Given the description of an element on the screen output the (x, y) to click on. 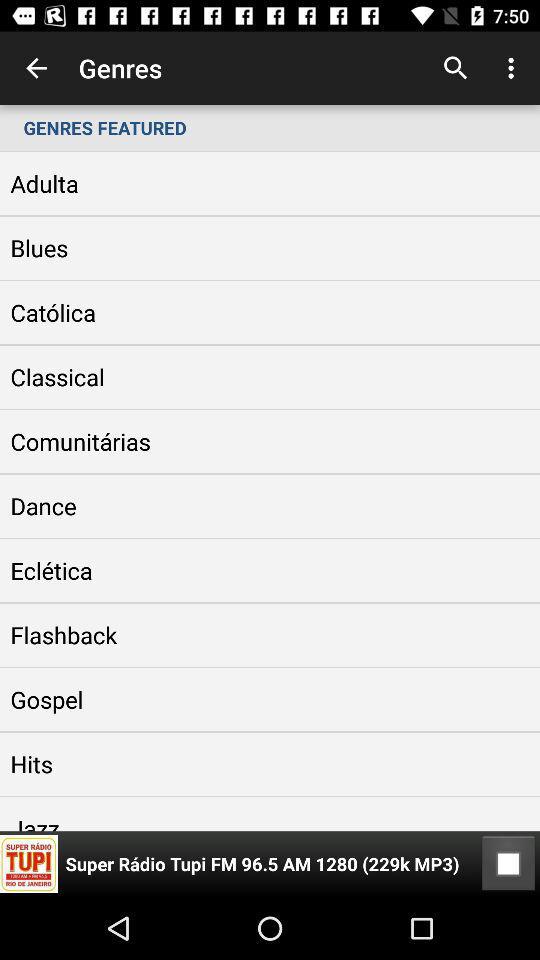
press item to the right of genres icon (455, 67)
